Given the description of an element on the screen output the (x, y) to click on. 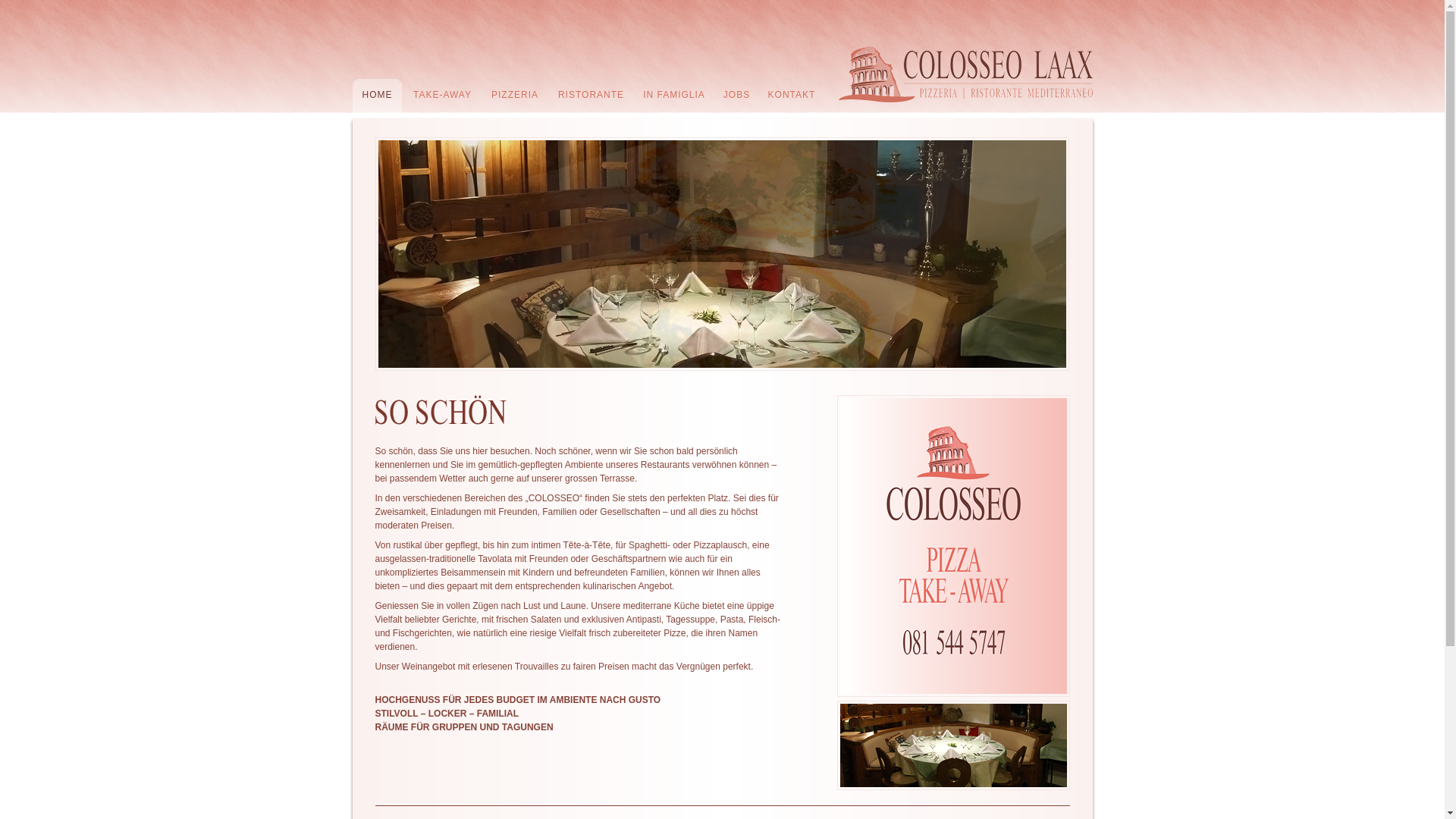
RISTORANTE Element type: text (586, 95)
TAKE-AWAY Element type: text (438, 95)
PIZZERIA Element type: text (510, 95)
IN FAMIGLIA Element type: text (670, 95)
KONTAKT Element type: text (786, 95)
JOBS Element type: text (732, 95)
HOME Element type: text (372, 95)
